Given the description of an element on the screen output the (x, y) to click on. 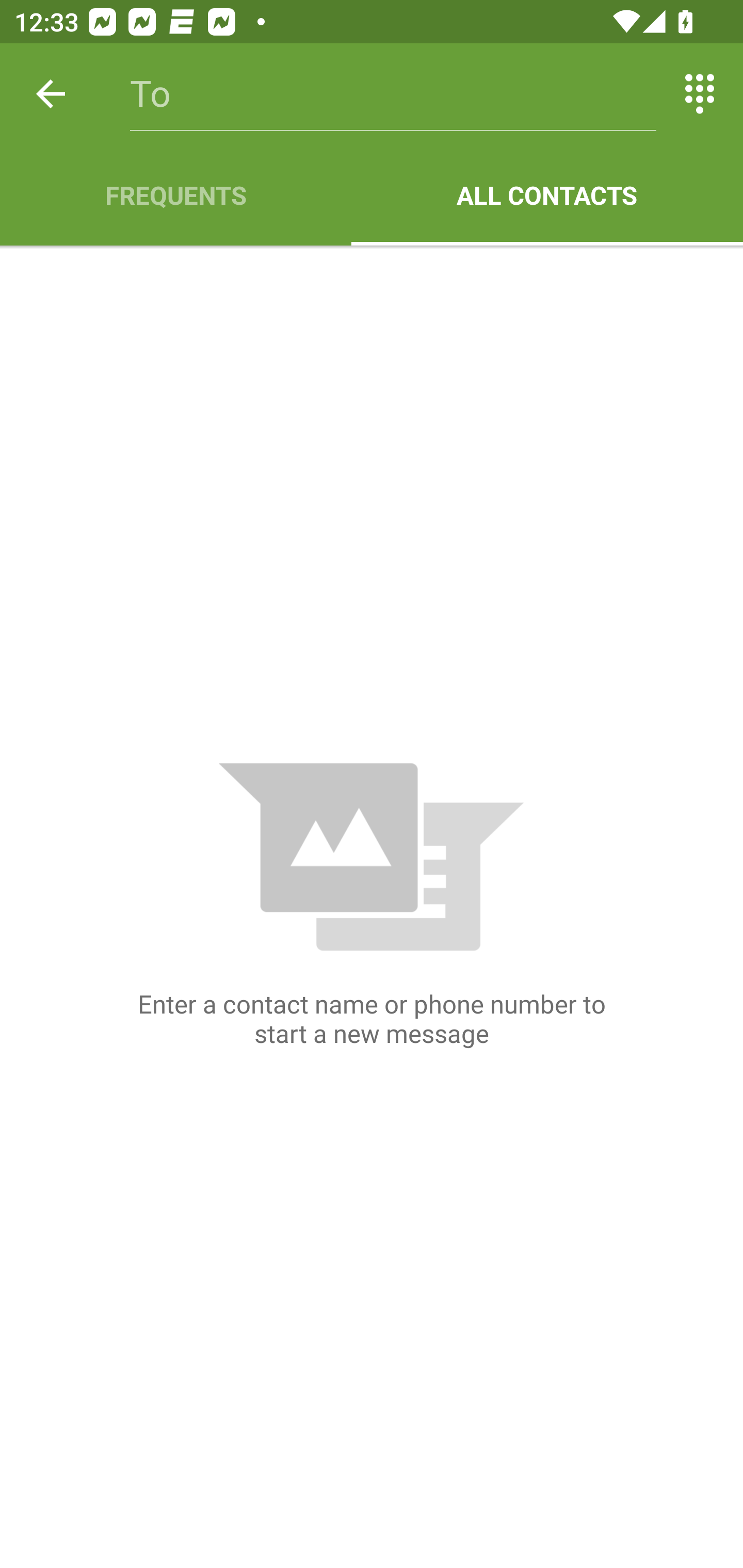
Back (50, 93)
Switch between entering text and numbers (699, 93)
To (393, 93)
FREQUENTS (175, 195)
ALL CONTACTS (547, 195)
